Given the description of an element on the screen output the (x, y) to click on. 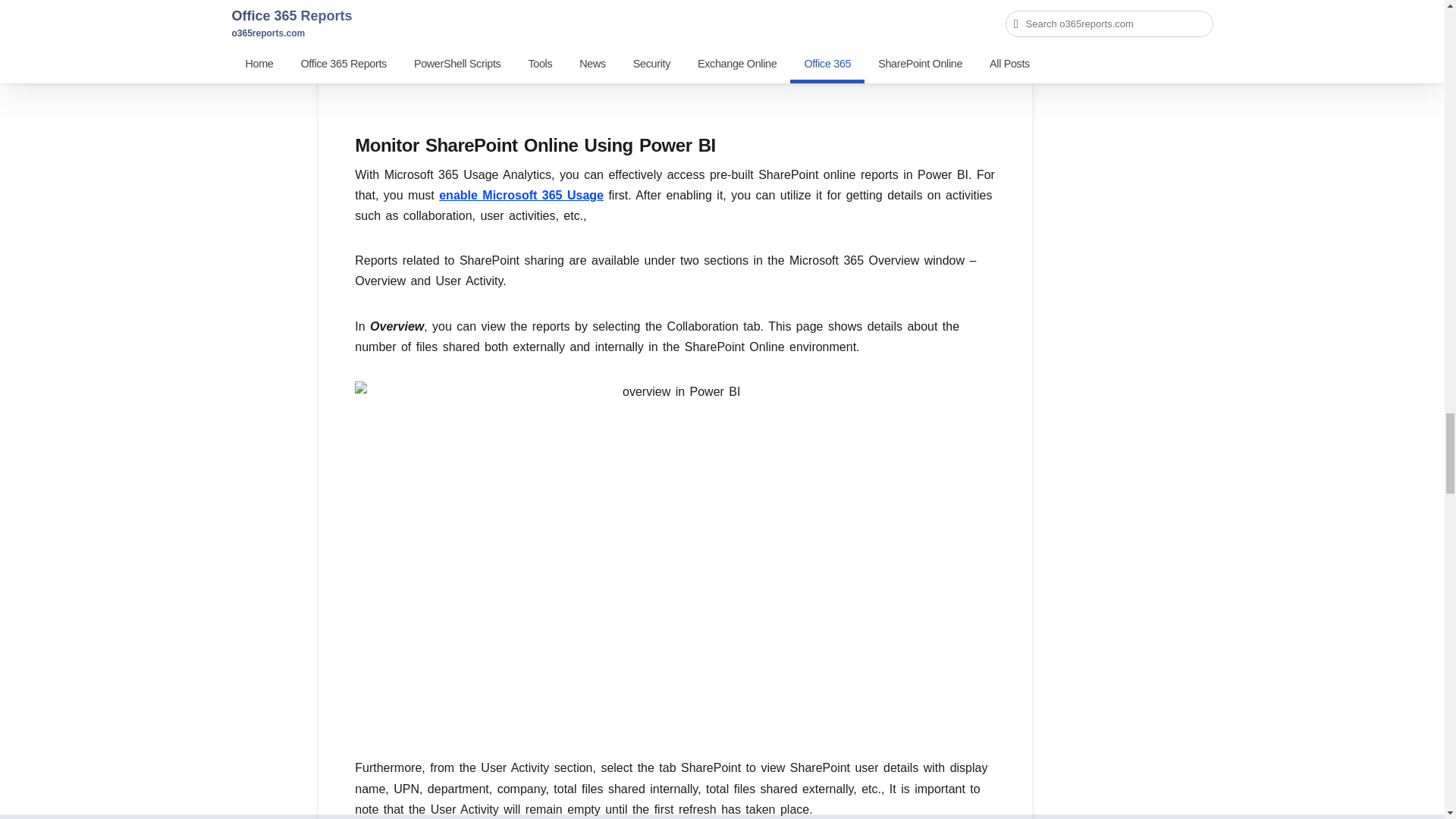
enable Microsoft 365 Usage (521, 195)
